Given the description of an element on the screen output the (x, y) to click on. 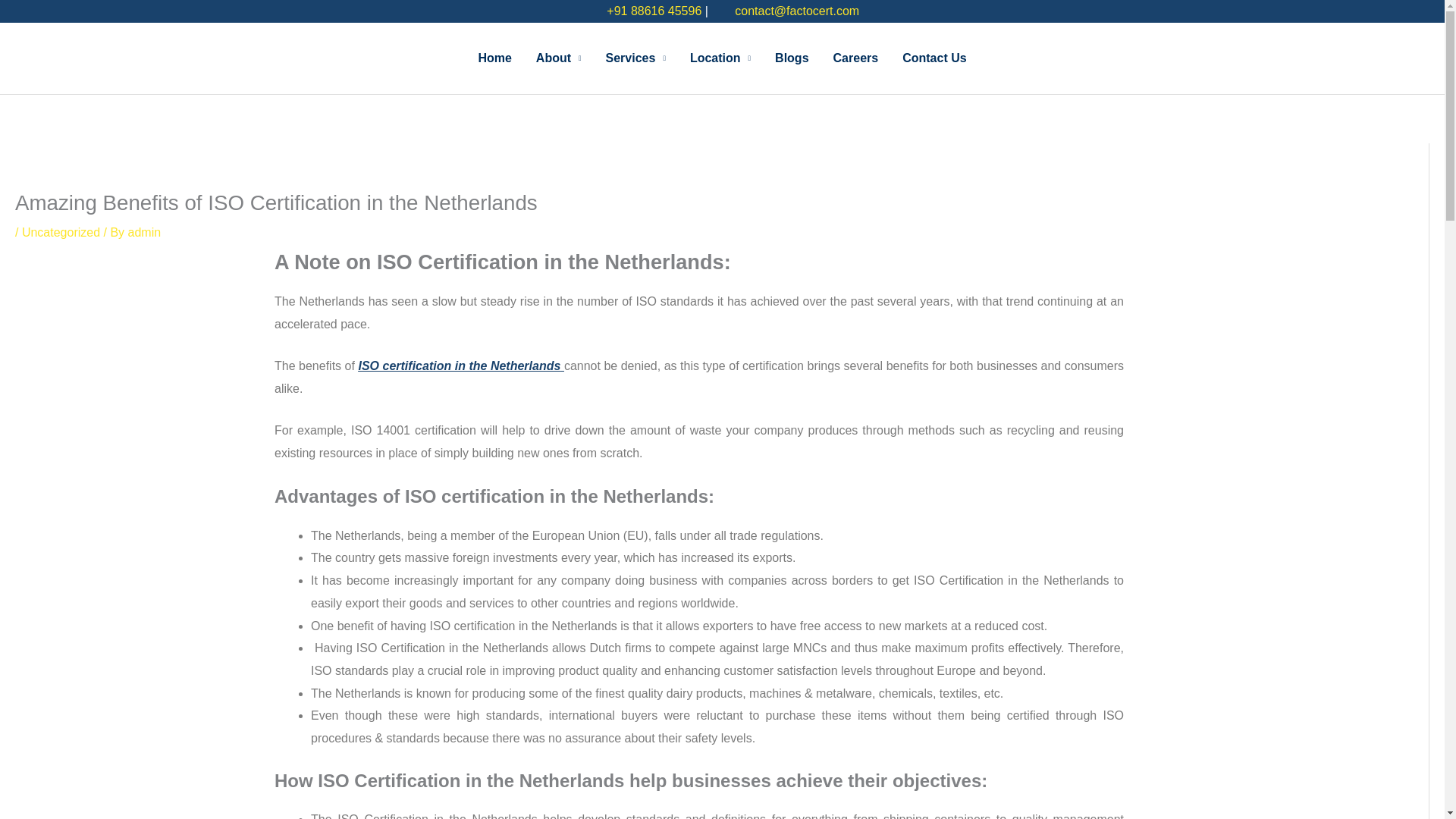
Home (493, 57)
Services (636, 57)
About (559, 57)
View all posts by admin (144, 232)
